Given the description of an element on the screen output the (x, y) to click on. 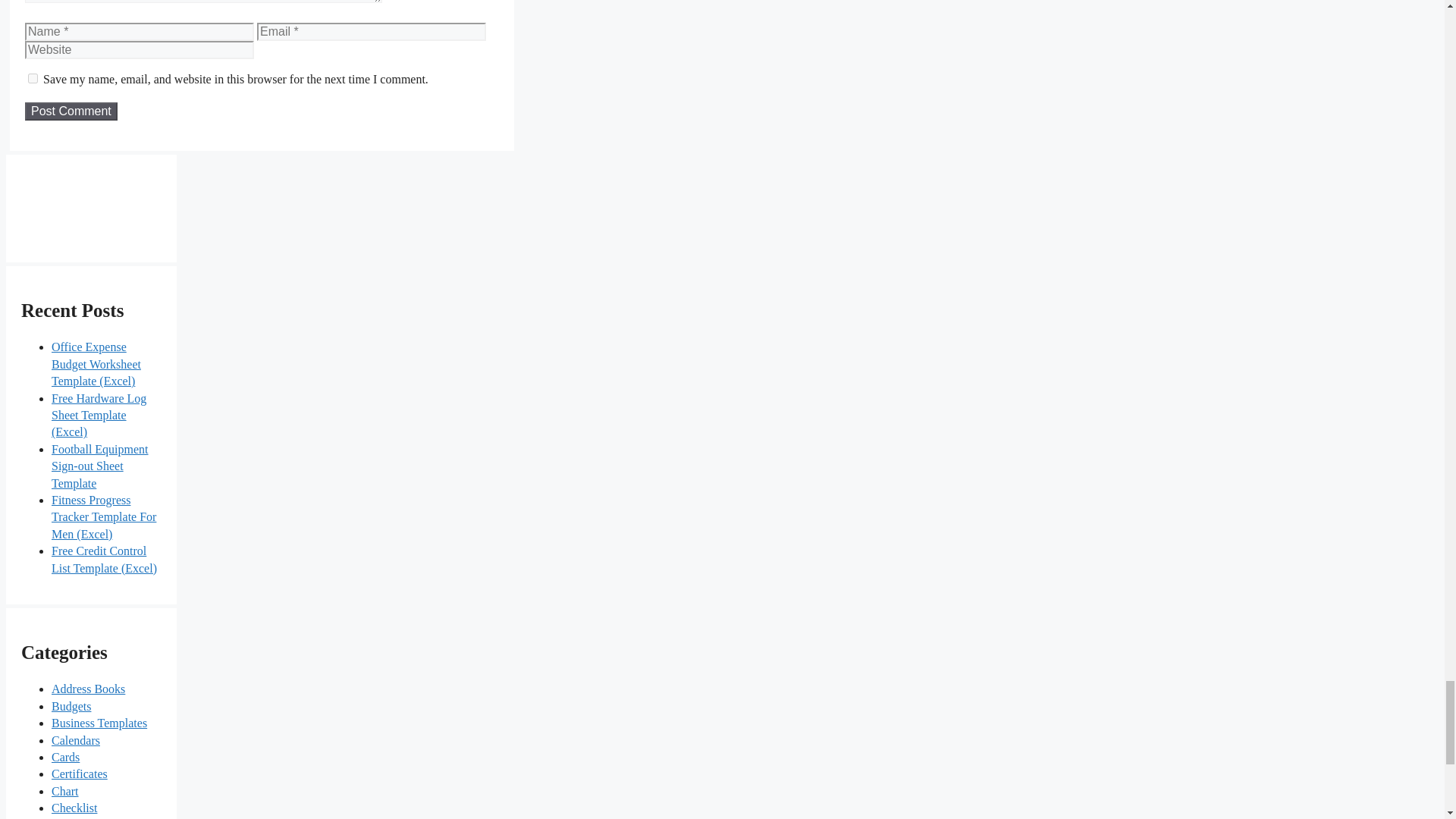
Certificates (78, 773)
Address Books (87, 688)
Checklist (73, 807)
Post Comment (70, 111)
yes (32, 78)
Business Templates (98, 722)
Post Comment (70, 111)
Calendars (75, 739)
Cards (65, 757)
Chart (64, 790)
Budgets (70, 706)
Football Equipment Sign-out Sheet Template (99, 466)
